Given the description of an element on the screen output the (x, y) to click on. 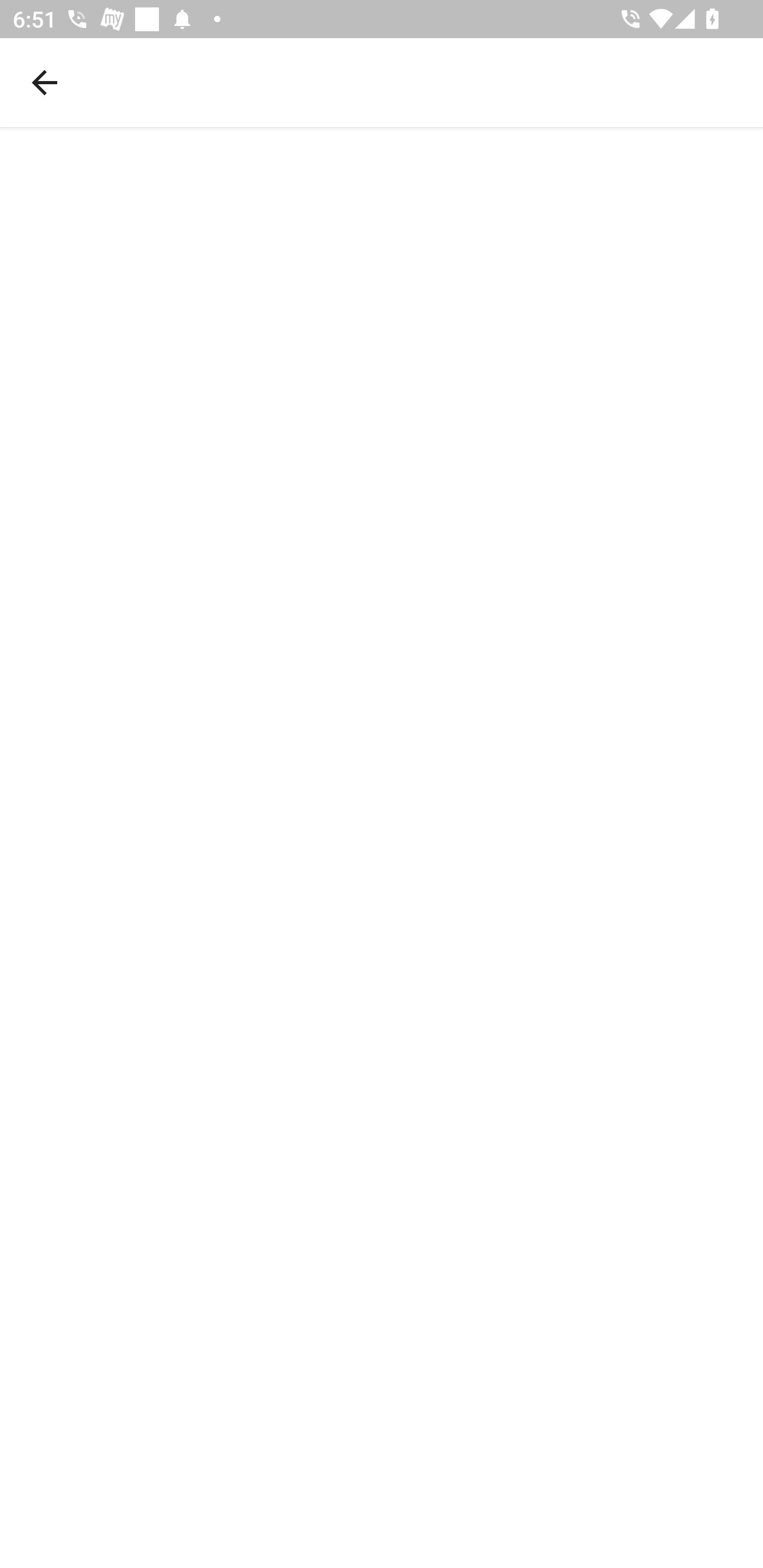
Navigate up (44, 82)
